Given the description of an element on the screen output the (x, y) to click on. 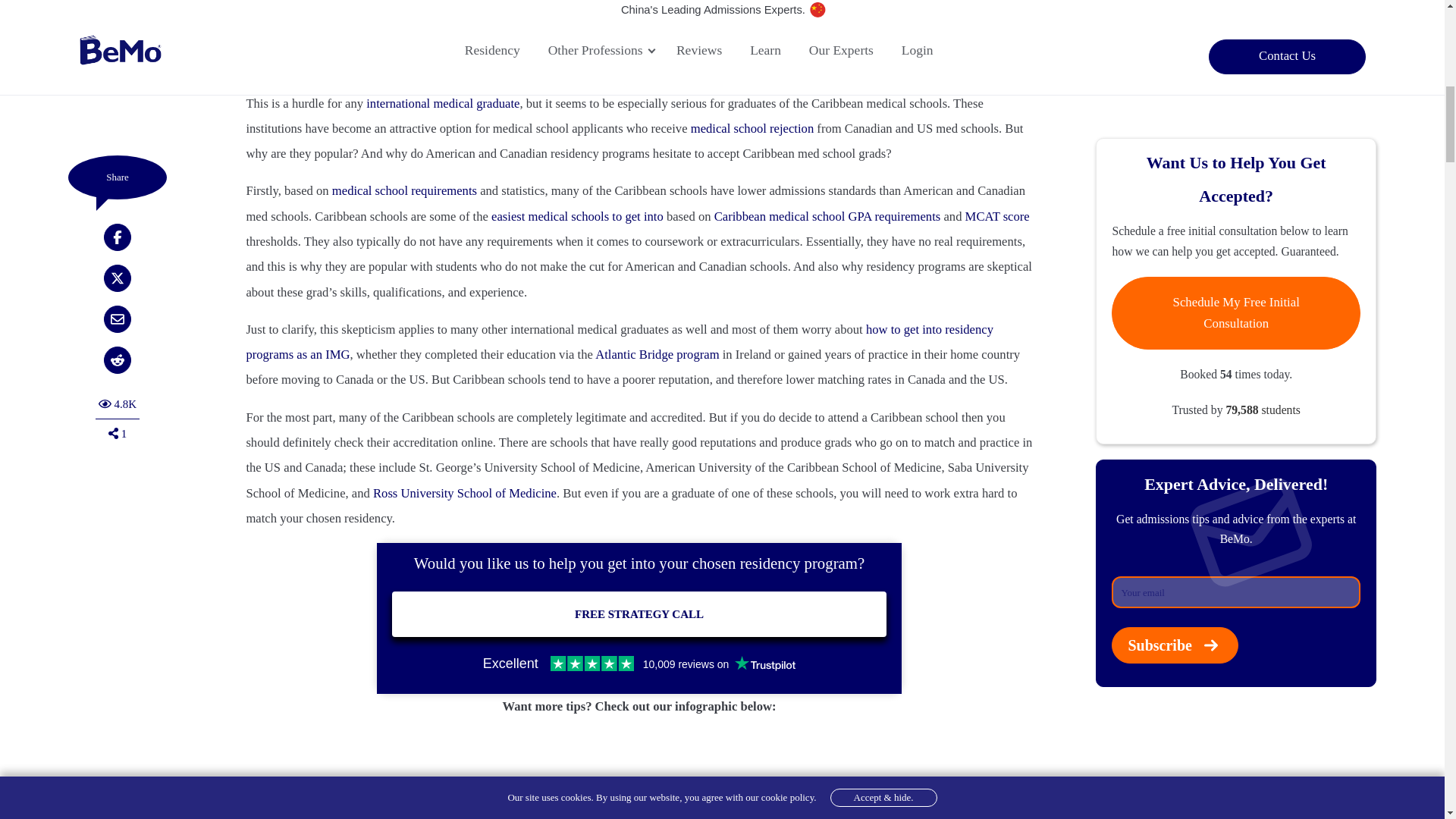
Medical school acceptance rates (327, 15)
medical schools in the US (472, 40)
international medical graduate (442, 103)
medical school requirements (404, 190)
medical school rejection (751, 128)
Customer reviews powered by Trustpilot (638, 663)
Medical schools in Canada (892, 15)
